Given the description of an element on the screen output the (x, y) to click on. 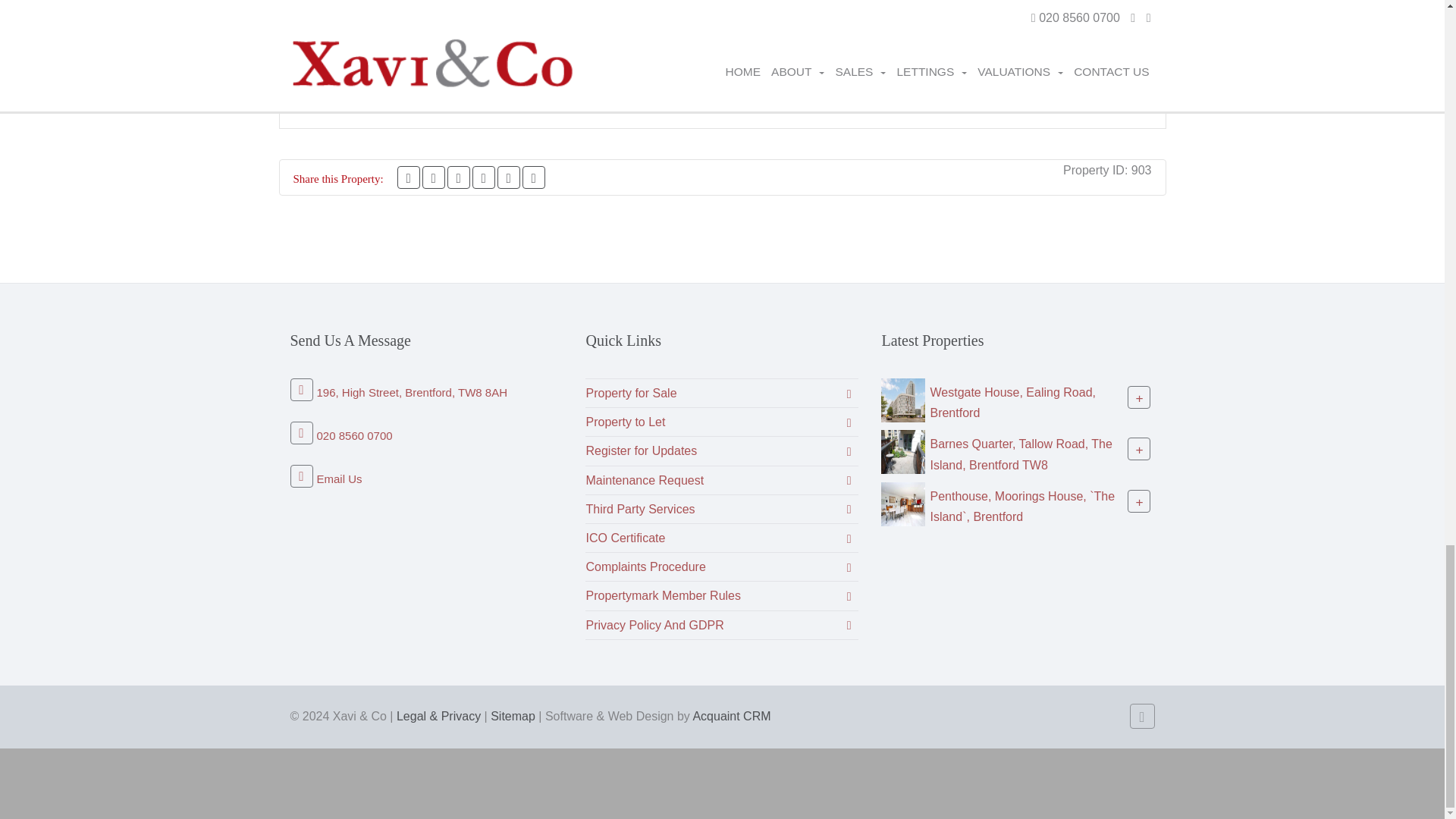
Property For Sale Westgate House, Ealing Road, Brentford (902, 399)
Twitter (433, 177)
WhatsApp (483, 177)
Property For Sale Moorings House, Tallow Road, Brentford (902, 502)
Facebook (408, 177)
Pinterest (458, 177)
SMS (508, 177)
Property For Sale Barnes Quarter, Brentford (902, 451)
Email (533, 177)
